Given the description of an element on the screen output the (x, y) to click on. 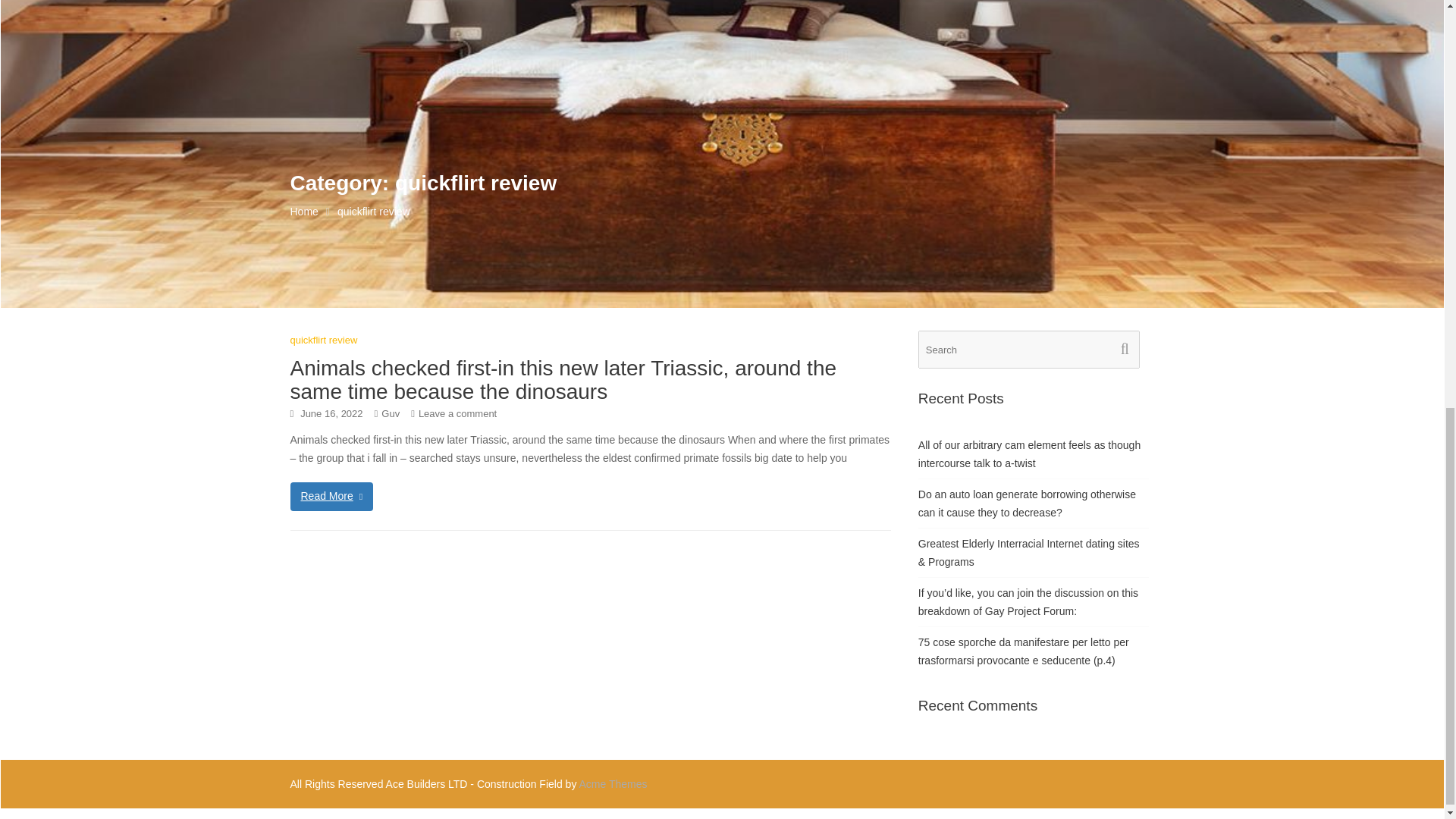
Leave a comment (457, 413)
quickflirt review (322, 339)
Read More (330, 496)
Home (303, 211)
June 16, 2022 (330, 413)
Acme Themes (613, 784)
Guv (389, 413)
